Given the description of an element on the screen output the (x, y) to click on. 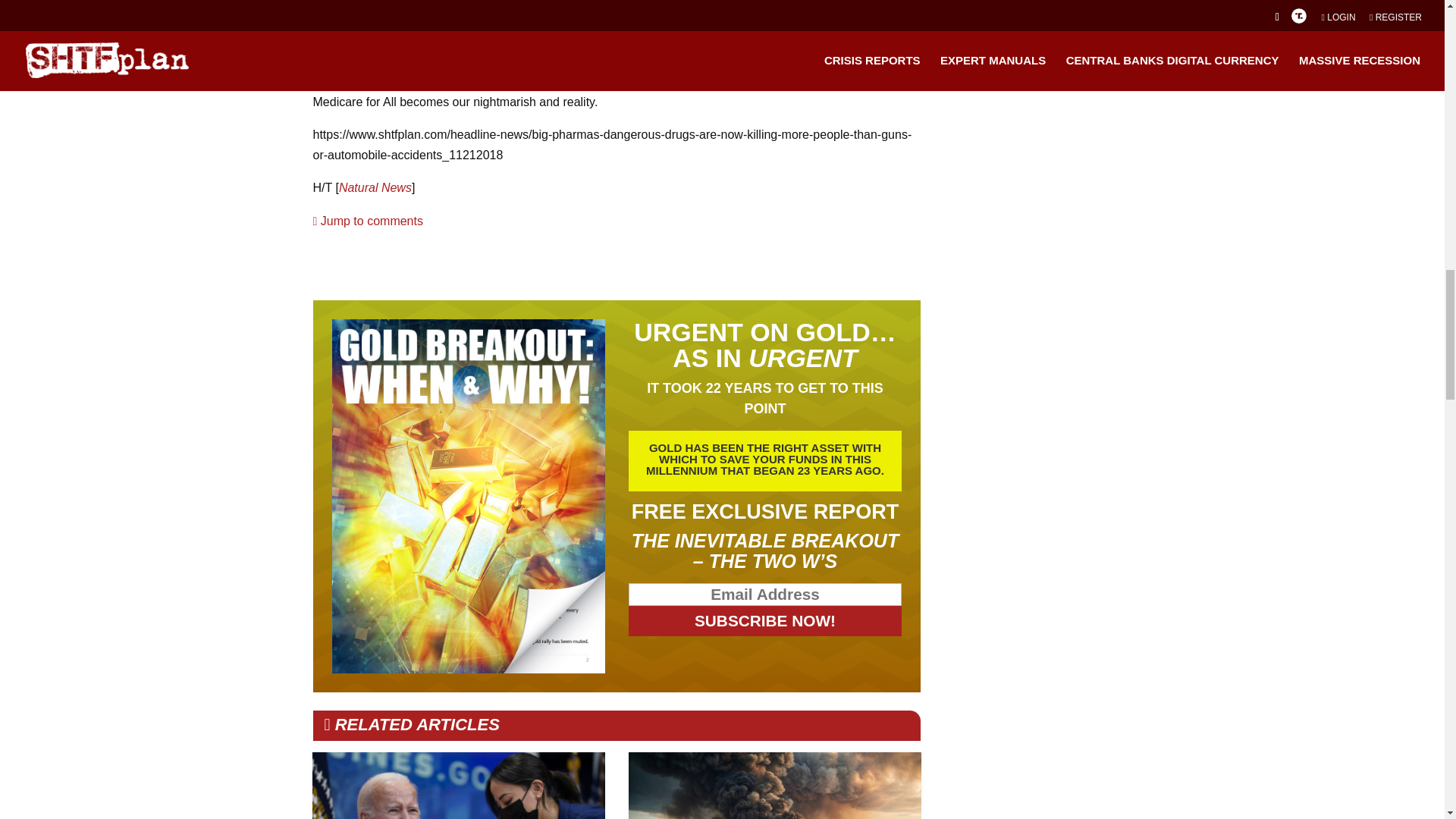
Jump to comments (367, 220)
Gold-Breakout-cf (468, 496)
Natural News (375, 187)
Subscribe Now! (765, 621)
Americans are doped up now, (758, 81)
Subscribe Now! (765, 621)
